Given the description of an element on the screen output the (x, y) to click on. 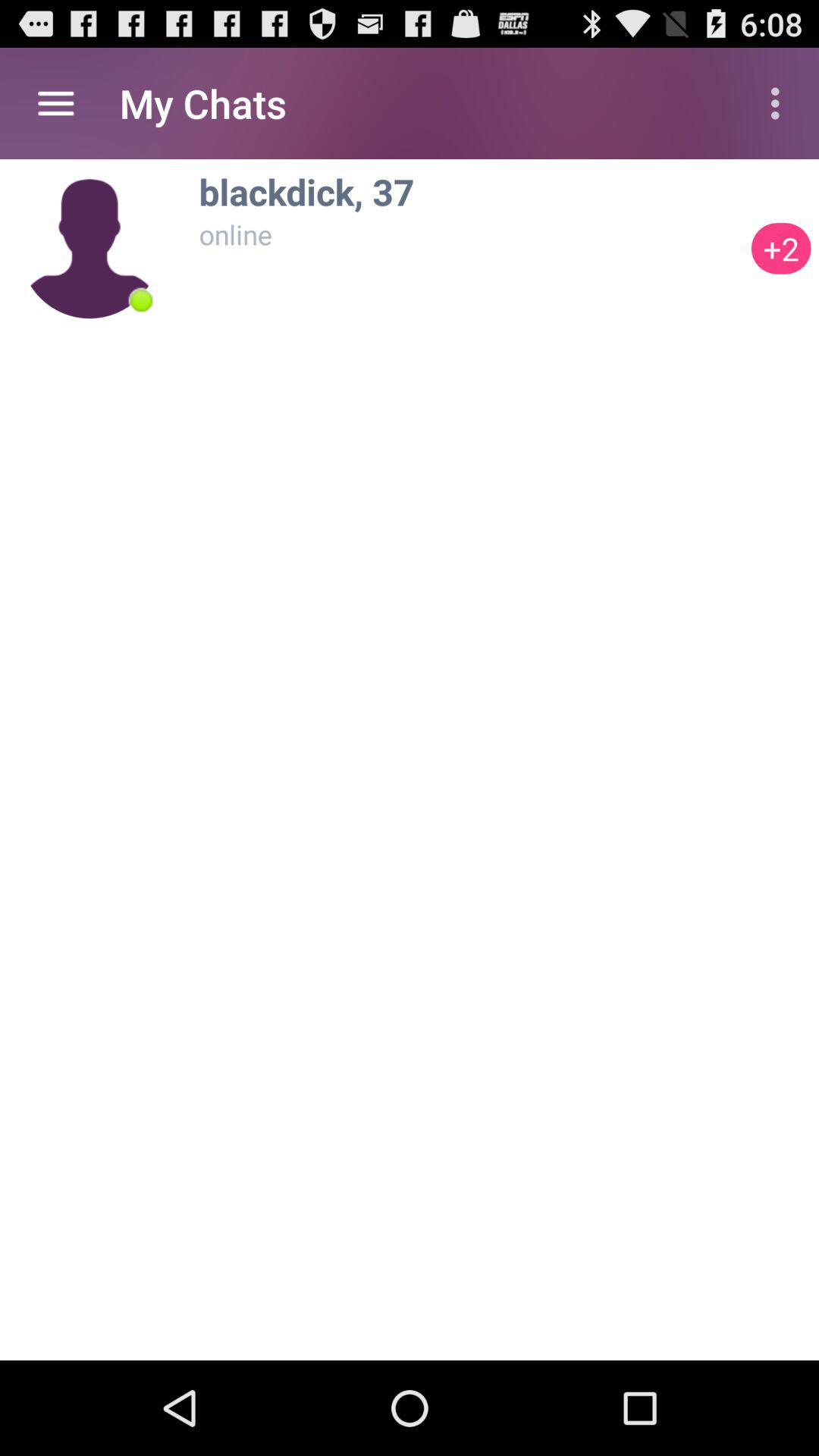
press icon next to my chats icon (55, 103)
